Given the description of an element on the screen output the (x, y) to click on. 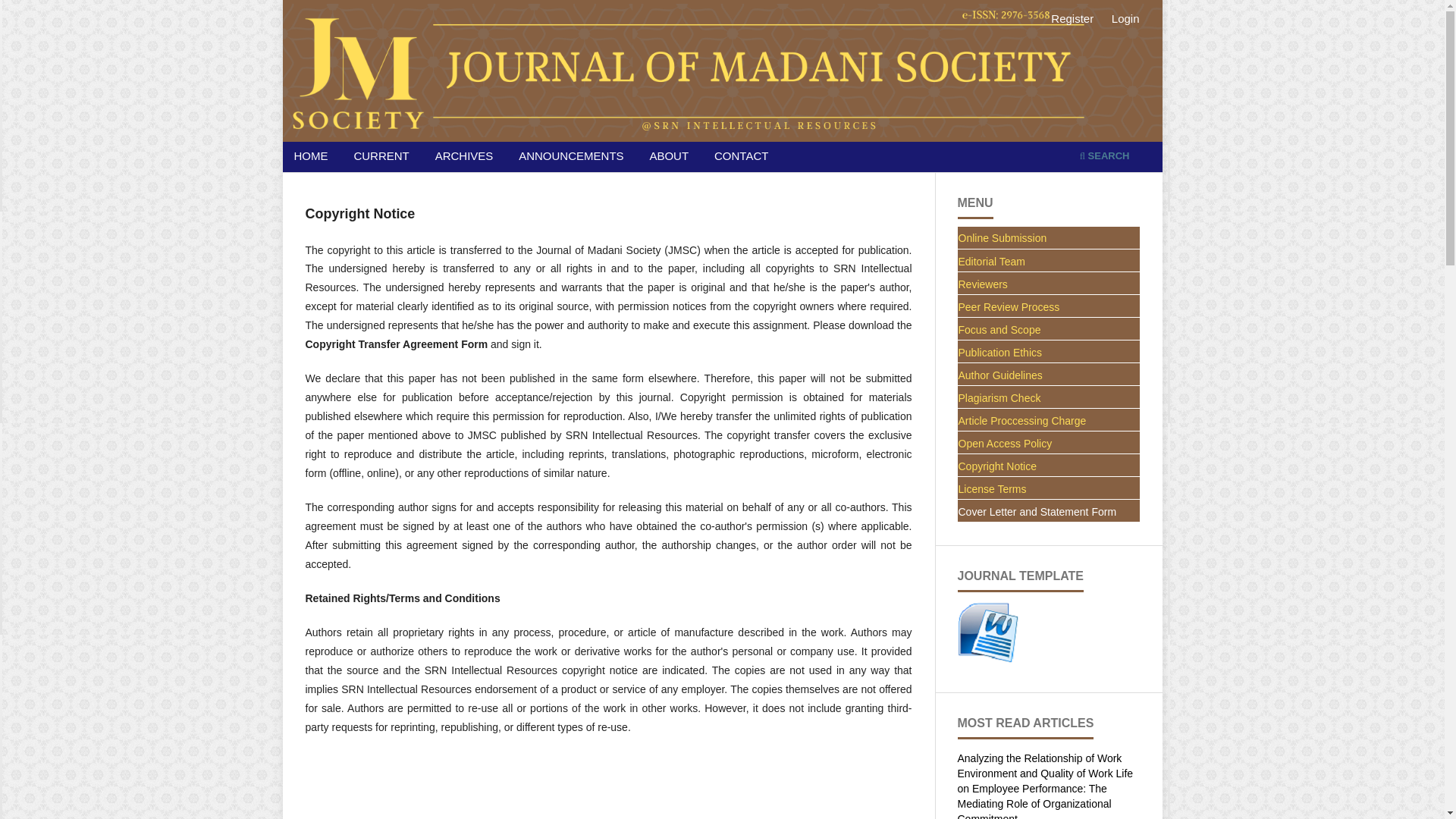
Article Proccessing Charge (1048, 419)
License Terms (1048, 488)
Register (1071, 18)
Peer Review Process (1048, 305)
ABOUT (668, 158)
Focus and Scope (1048, 328)
Online Submission (1048, 237)
Open Access Policy (1048, 442)
Plagiarism Check (1048, 396)
Login (1125, 18)
Article Proccessing Charge (1048, 419)
Author Guidelines (1048, 374)
Plagiarism Check (1048, 396)
Publication Ethics (1048, 351)
